Given the description of an element on the screen output the (x, y) to click on. 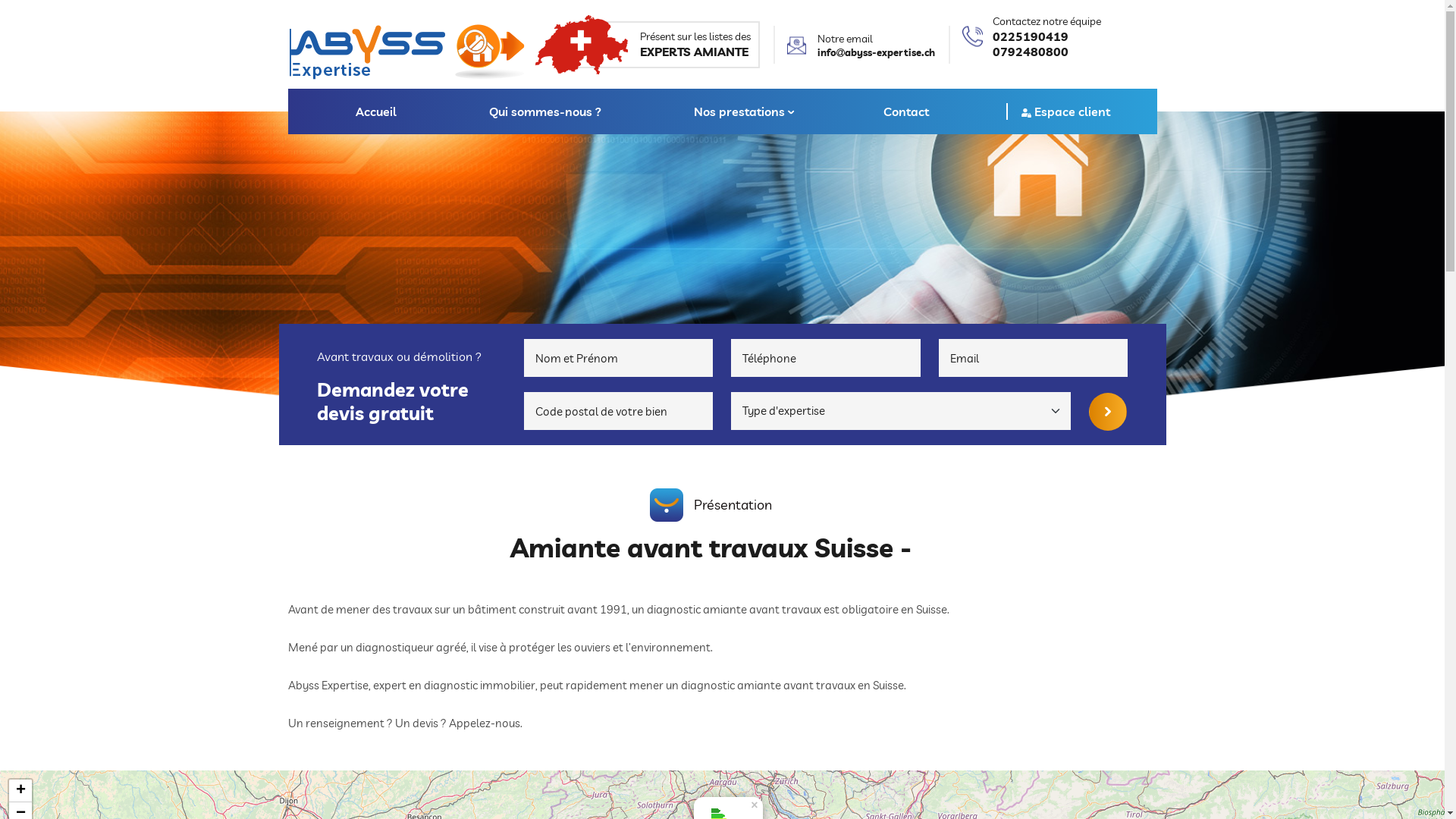
Accueil Element type: text (375, 111)
Contact Element type: text (906, 111)
Qui sommes-nous ? Element type: text (544, 111)
0225190419 Element type: text (1045, 35)
Espace client Element type: text (1065, 111)
+ Element type: text (20, 790)
0792480800 Element type: text (1045, 51)
Send Element type: text (1107, 411)
Nos prestations Element type: text (741, 111)
